Given the description of an element on the screen output the (x, y) to click on. 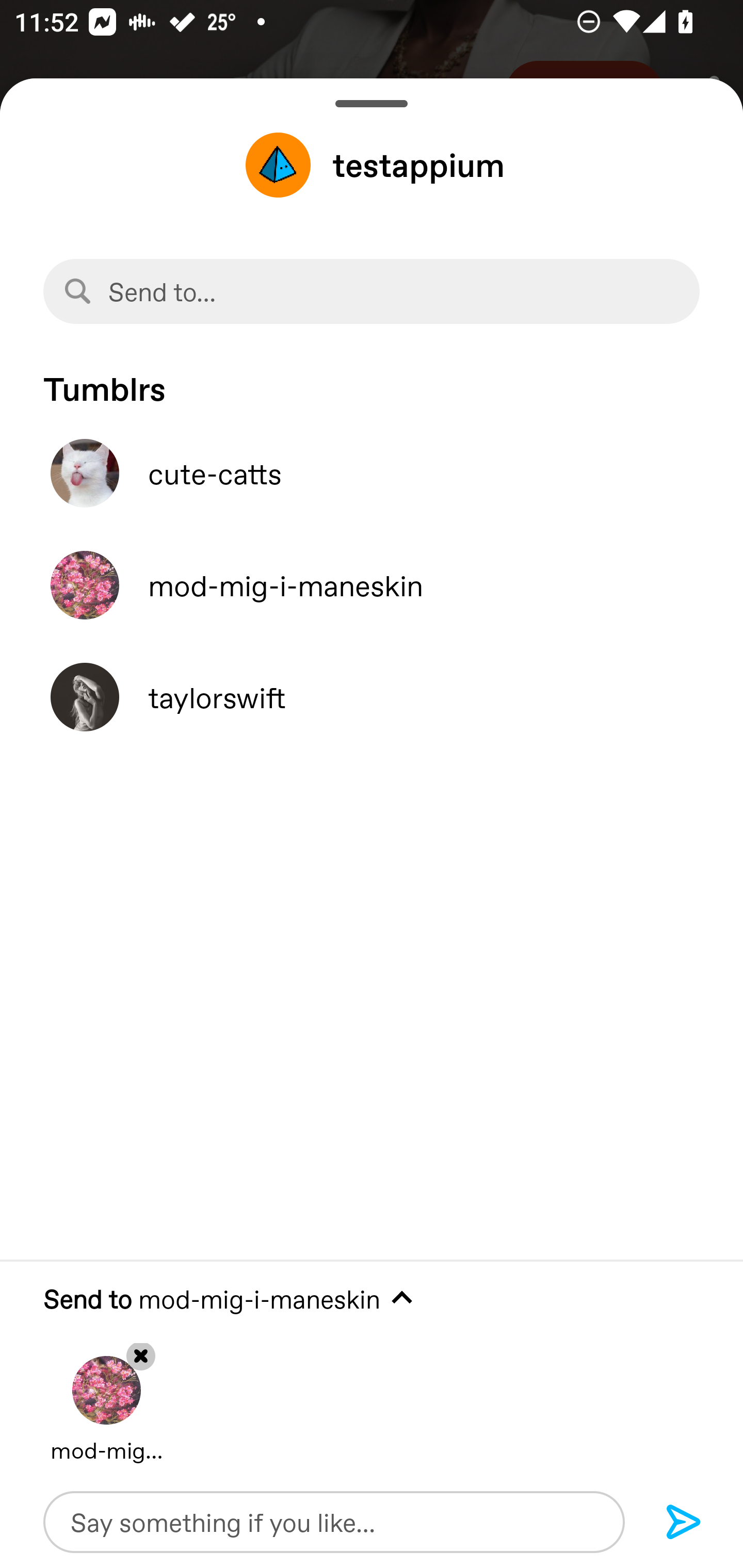
testappium (371, 164)
Send to… (371, 291)
Tumblrs (371, 379)
cute-catts (371, 473)
mod-mig-i-maneskin (371, 585)
taylorswift (371, 696)
Send to mod-mig-i-maneskin (371, 1298)
Dismiss mod-mig-i-maneskin (106, 1395)
Send (683, 1522)
Say something if you like… (333, 1521)
